Given the description of an element on the screen output the (x, y) to click on. 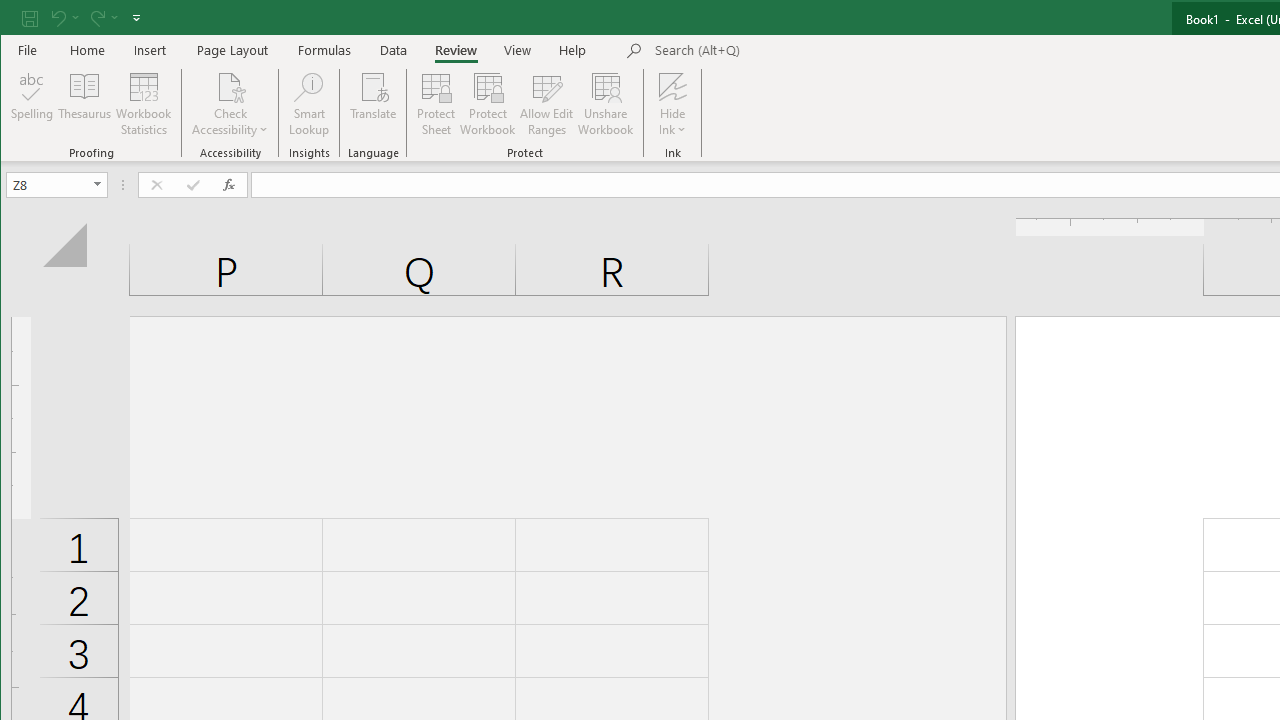
Protect Workbook... (488, 104)
Thesaurus... (84, 104)
Allow Edit Ranges (547, 104)
Smart Lookup (308, 104)
Spelling... (32, 104)
